Given the description of an element on the screen output the (x, y) to click on. 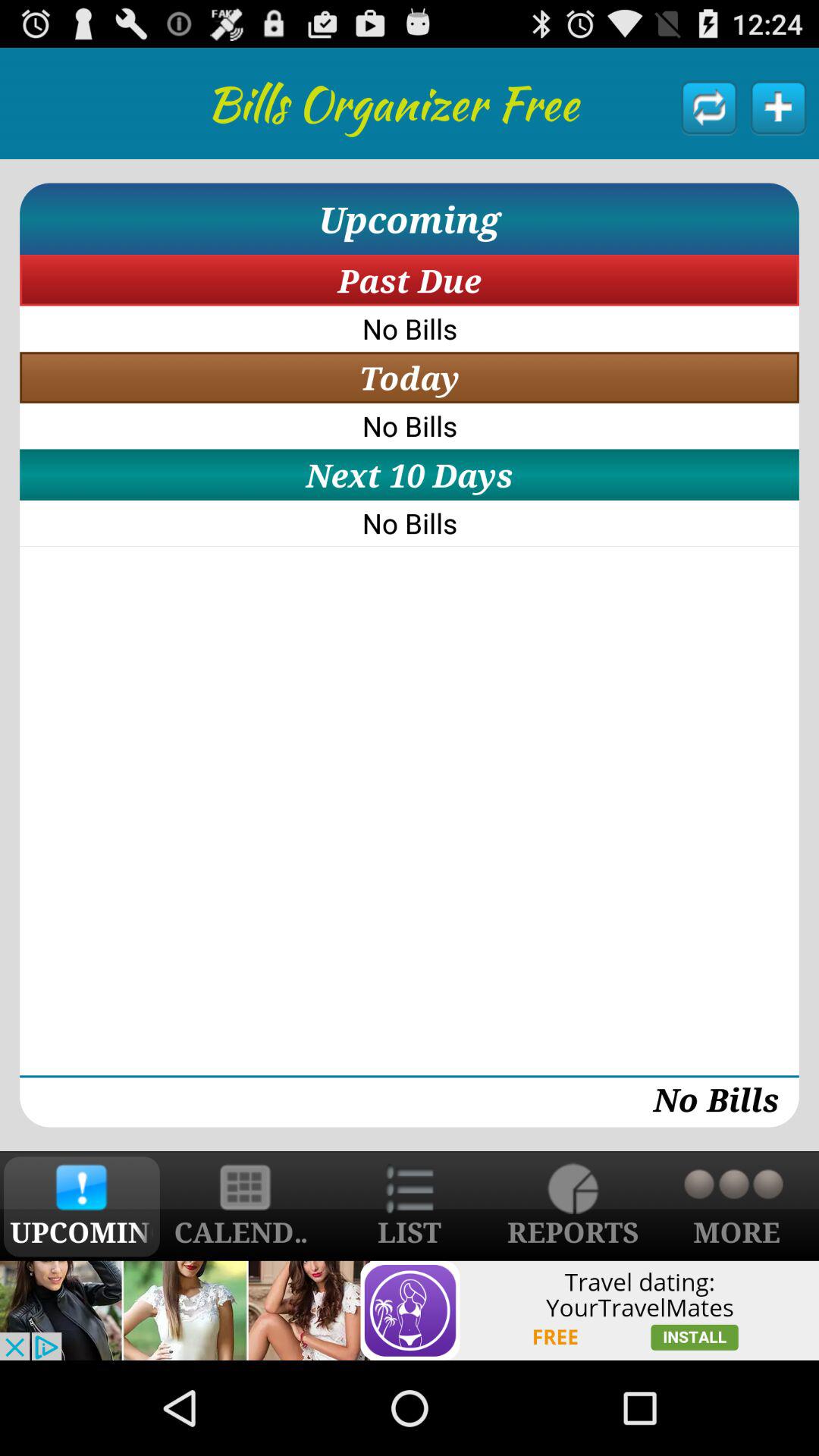
add a payment reminder (778, 107)
